Given the description of an element on the screen output the (x, y) to click on. 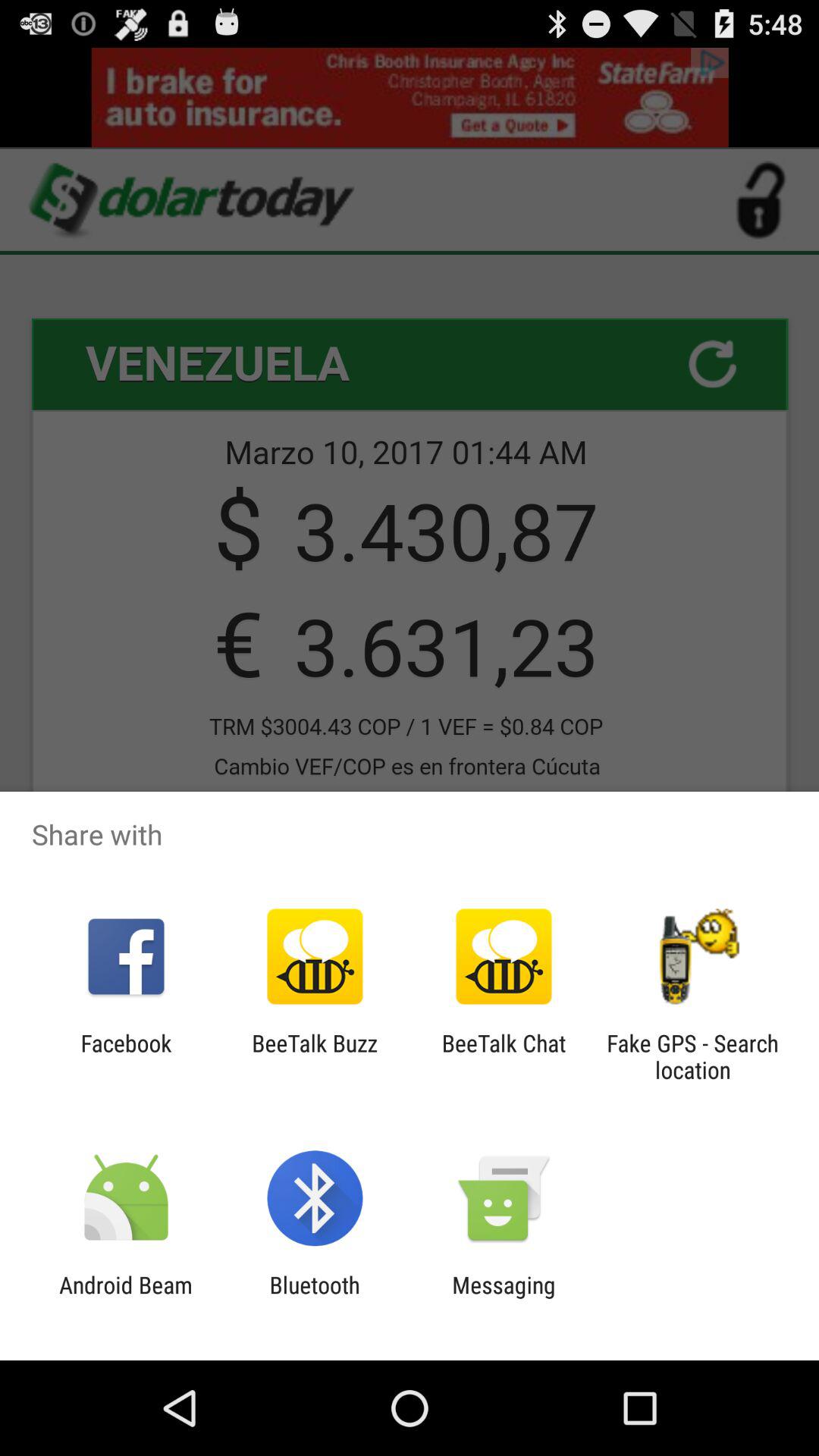
open item to the right of the facebook (314, 1056)
